Given the description of an element on the screen output the (x, y) to click on. 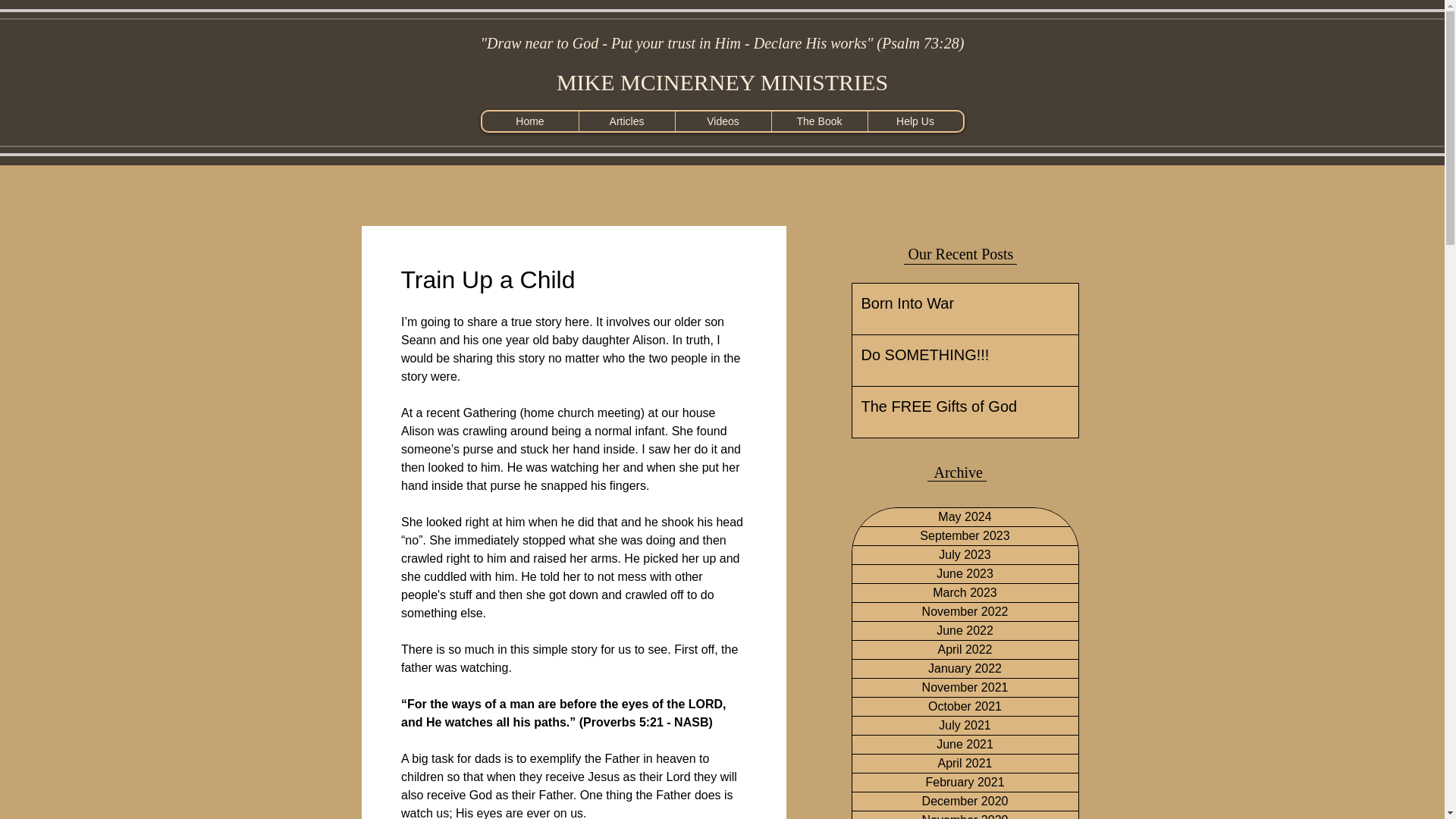
January 2022 (964, 669)
March 2023 (964, 592)
November 2020 (964, 815)
November 2022 (964, 611)
February 2021 (964, 782)
Born Into War (960, 306)
June 2023 (964, 574)
The Book (818, 121)
April 2021 (964, 763)
April 2022 (964, 649)
